Given the description of an element on the screen output the (x, y) to click on. 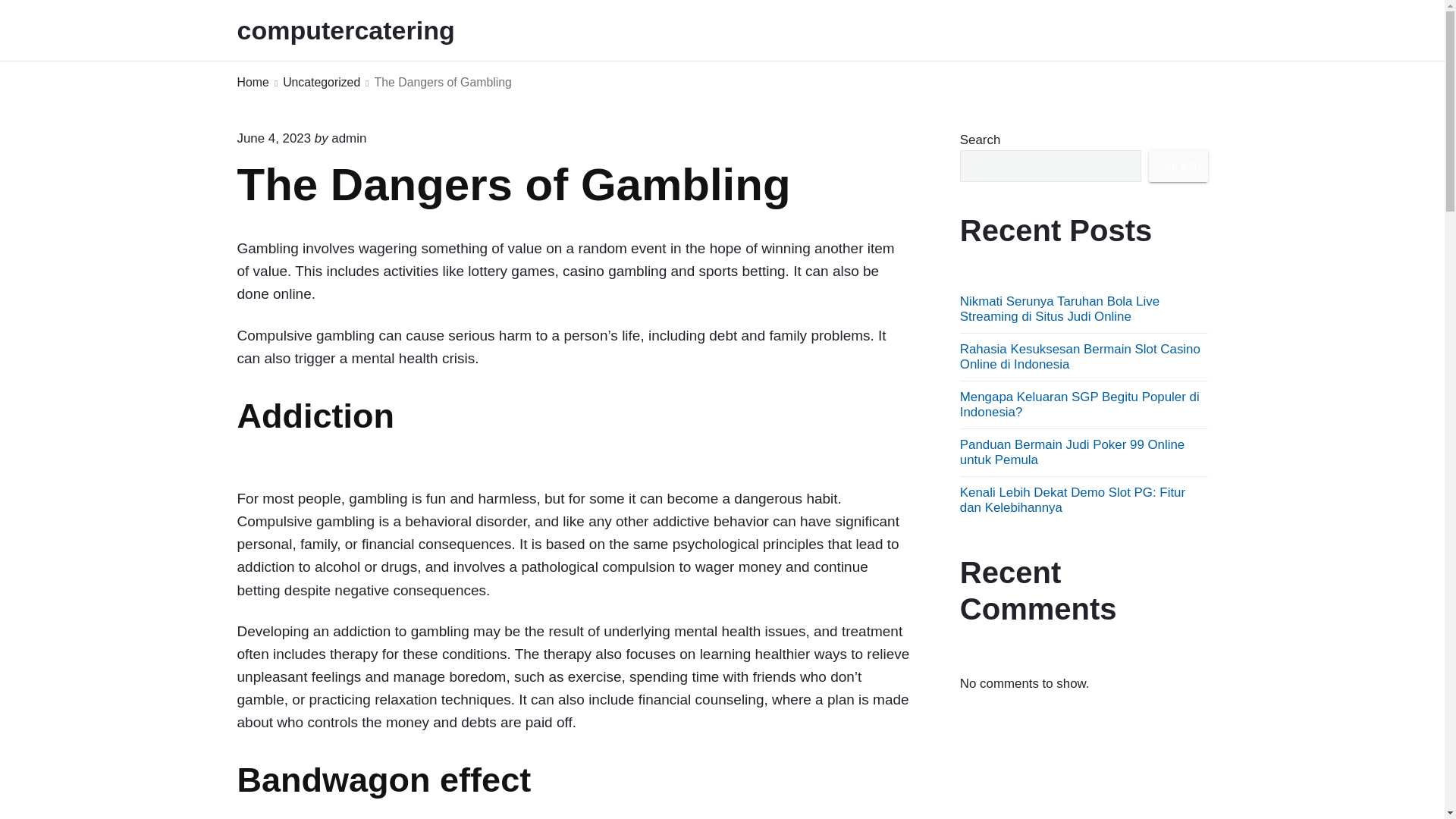
Mengapa Keluaran SGP Begitu Populer di Indonesia? (1079, 404)
SEARCH (1178, 165)
Panduan Bermain Judi Poker 99 Online untuk Pemula (1072, 451)
Uncategorized (320, 82)
Rahasia Kesuksesan Bermain Slot Casino Online di Indonesia (1079, 356)
Posts by admin (348, 138)
Sunday, June 4, 2023, 11:04 am (273, 138)
Home (251, 82)
admin (348, 138)
Kenali Lebih Dekat Demo Slot PG: Fitur dan Kelebihannya (1072, 500)
computercatering (365, 30)
